Given the description of an element on the screen output the (x, y) to click on. 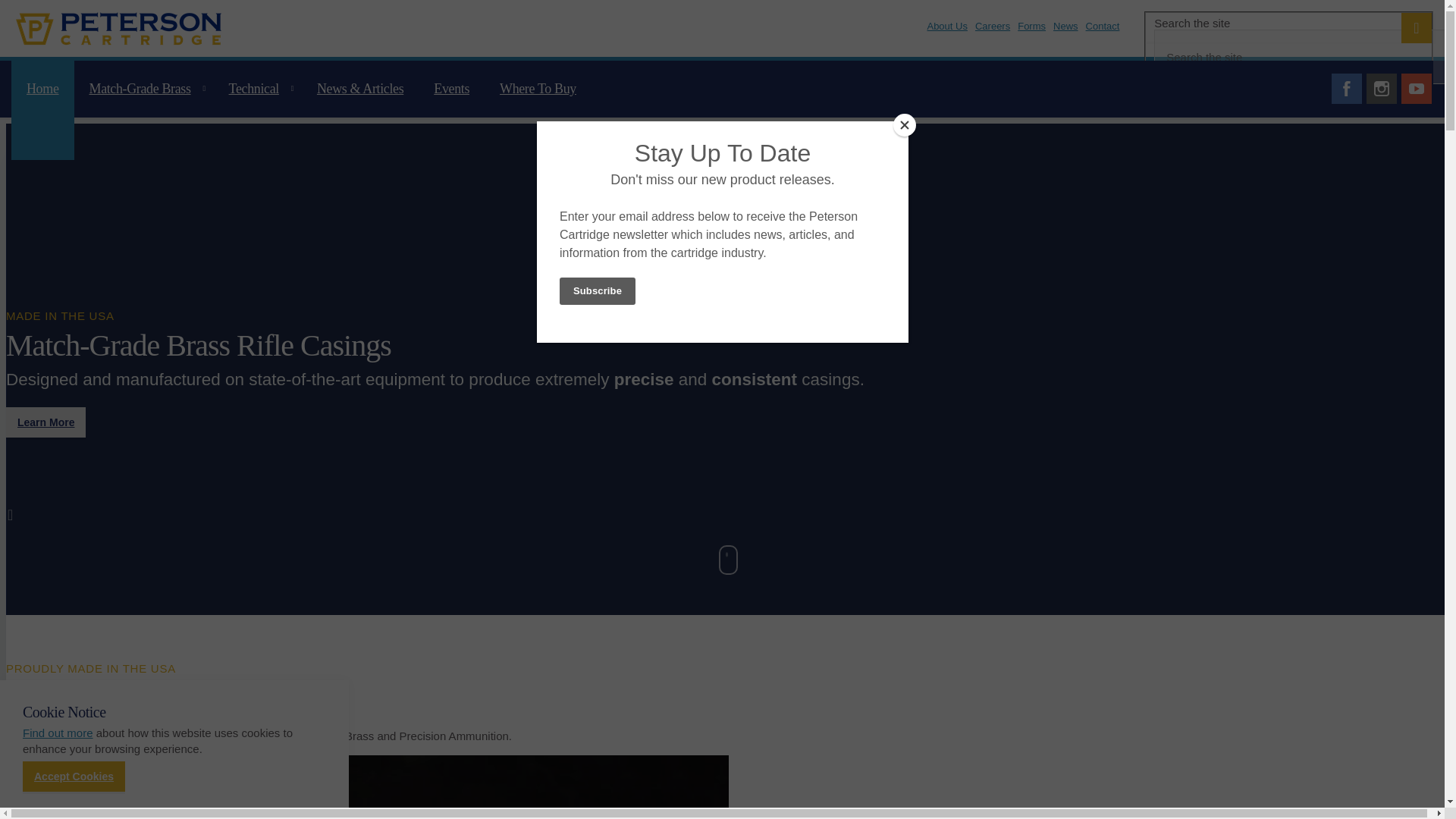
About Us (946, 33)
facebook (1346, 87)
Peterson Cartridge (118, 27)
Match-Grade Brass (367, 787)
Skip to the content (722, 12)
Events (451, 109)
Match-Grade Brass (144, 109)
Privacy Policy (58, 732)
Learn More (45, 422)
instagram (1381, 87)
Forms (1031, 33)
Where To Buy (537, 109)
Technical (257, 109)
youtube (1415, 87)
Careers (992, 33)
